Given the description of an element on the screen output the (x, y) to click on. 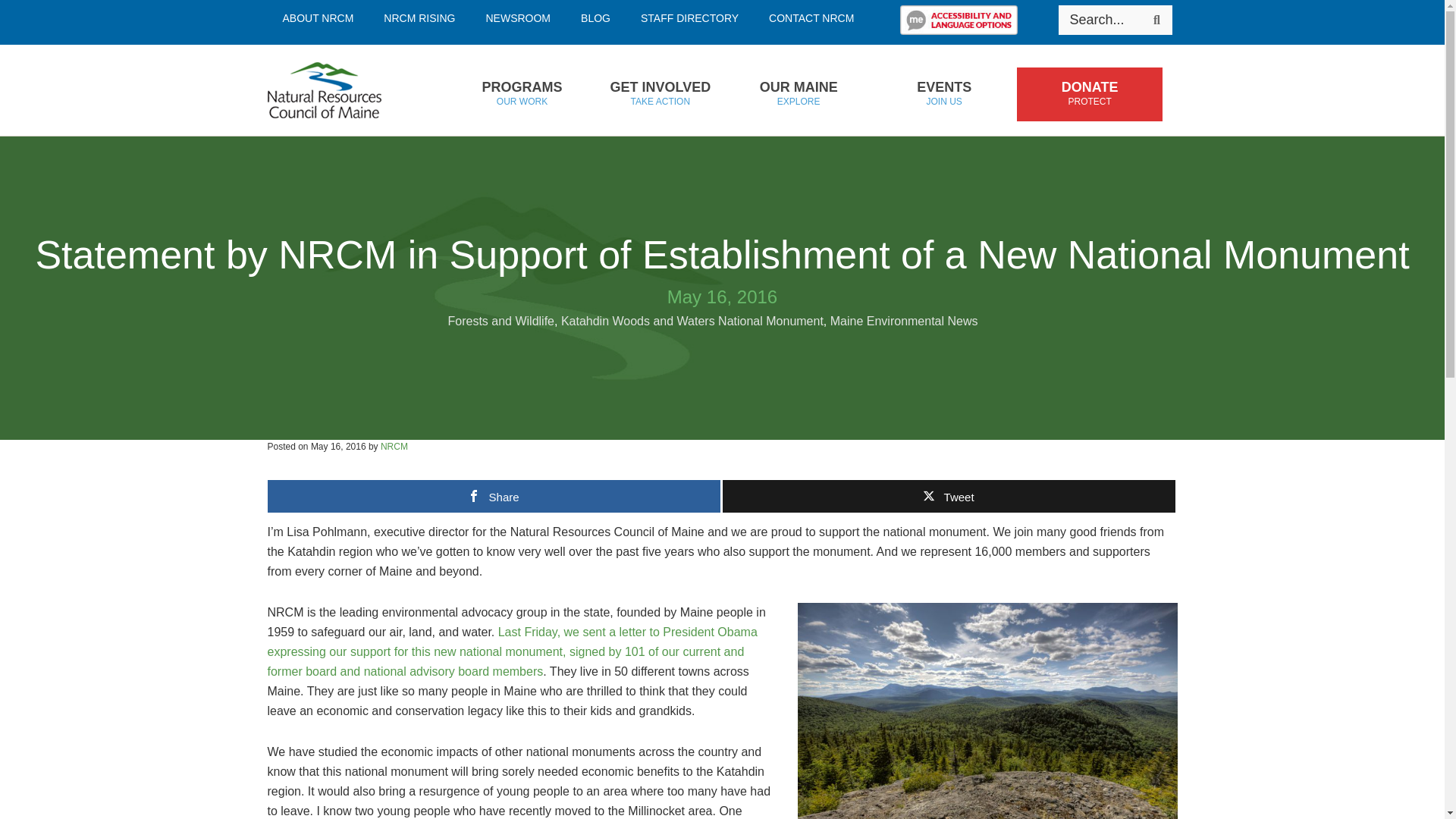
NEWSROOM (518, 18)
BLOG (596, 18)
ABOUT NRCM (317, 18)
Skip to primary navigation (521, 94)
STAFF DIRECTORY (347, 90)
NRCM RISING (690, 18)
